Given the description of an element on the screen output the (x, y) to click on. 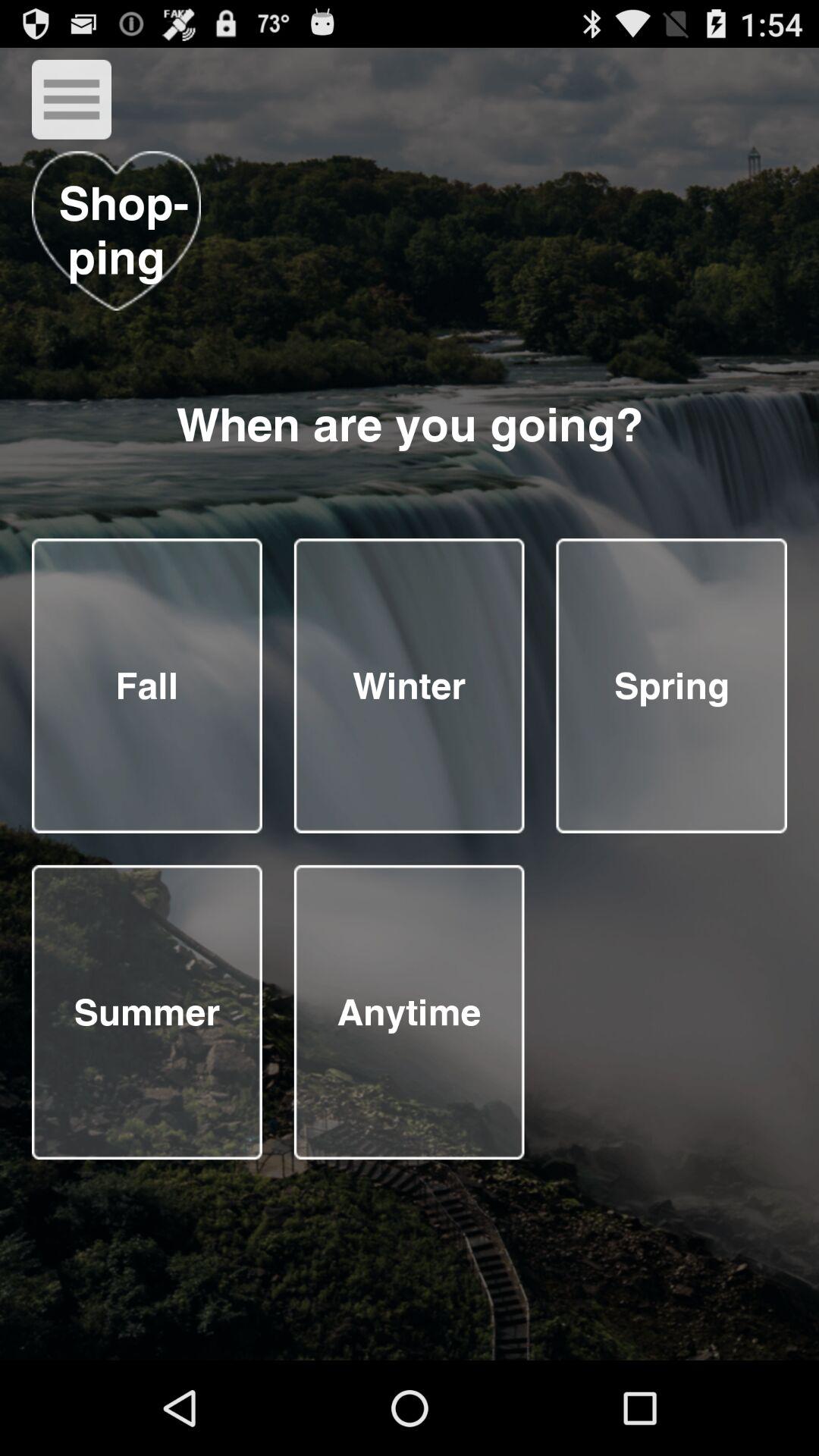
spring (671, 685)
